Given the description of an element on the screen output the (x, y) to click on. 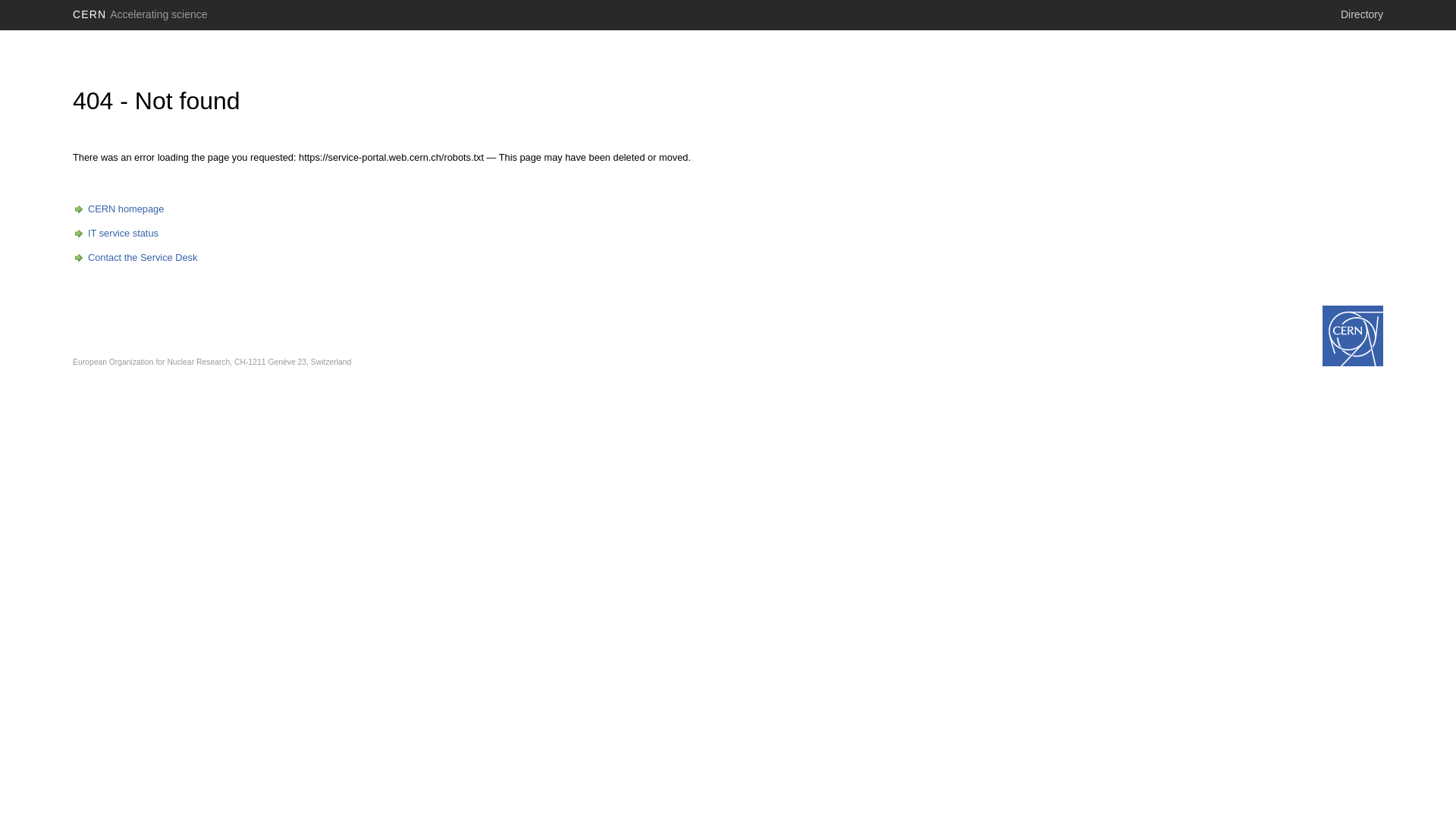
CERN homepage Element type: text (117, 208)
Contact the Service Desk Element type: text (134, 257)
home.cern Element type: hover (1352, 335)
CERN Accelerating science Element type: text (139, 14)
IT service status Element type: text (115, 232)
Directory Element type: text (1361, 14)
